Given the description of an element on the screen output the (x, y) to click on. 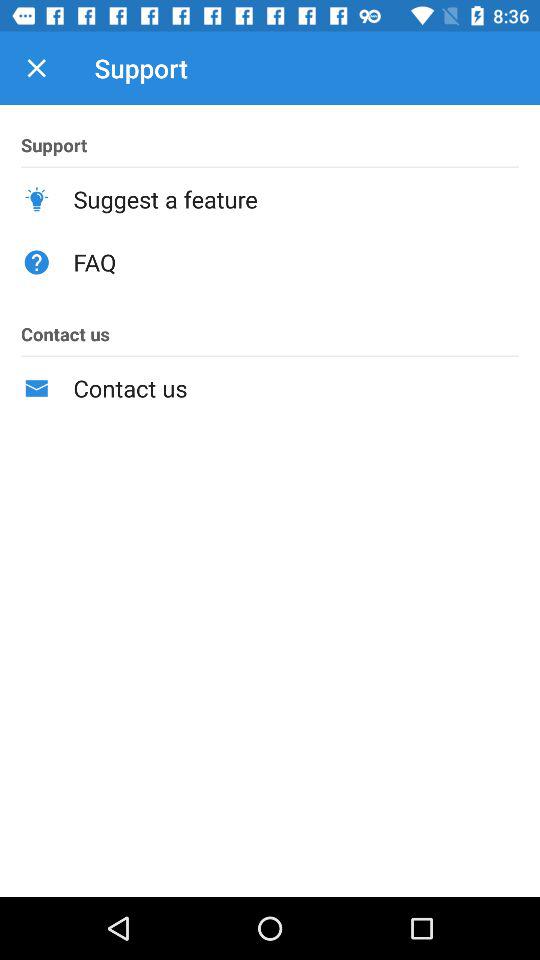
press icon below suggest a feature icon (296, 262)
